Given the description of an element on the screen output the (x, y) to click on. 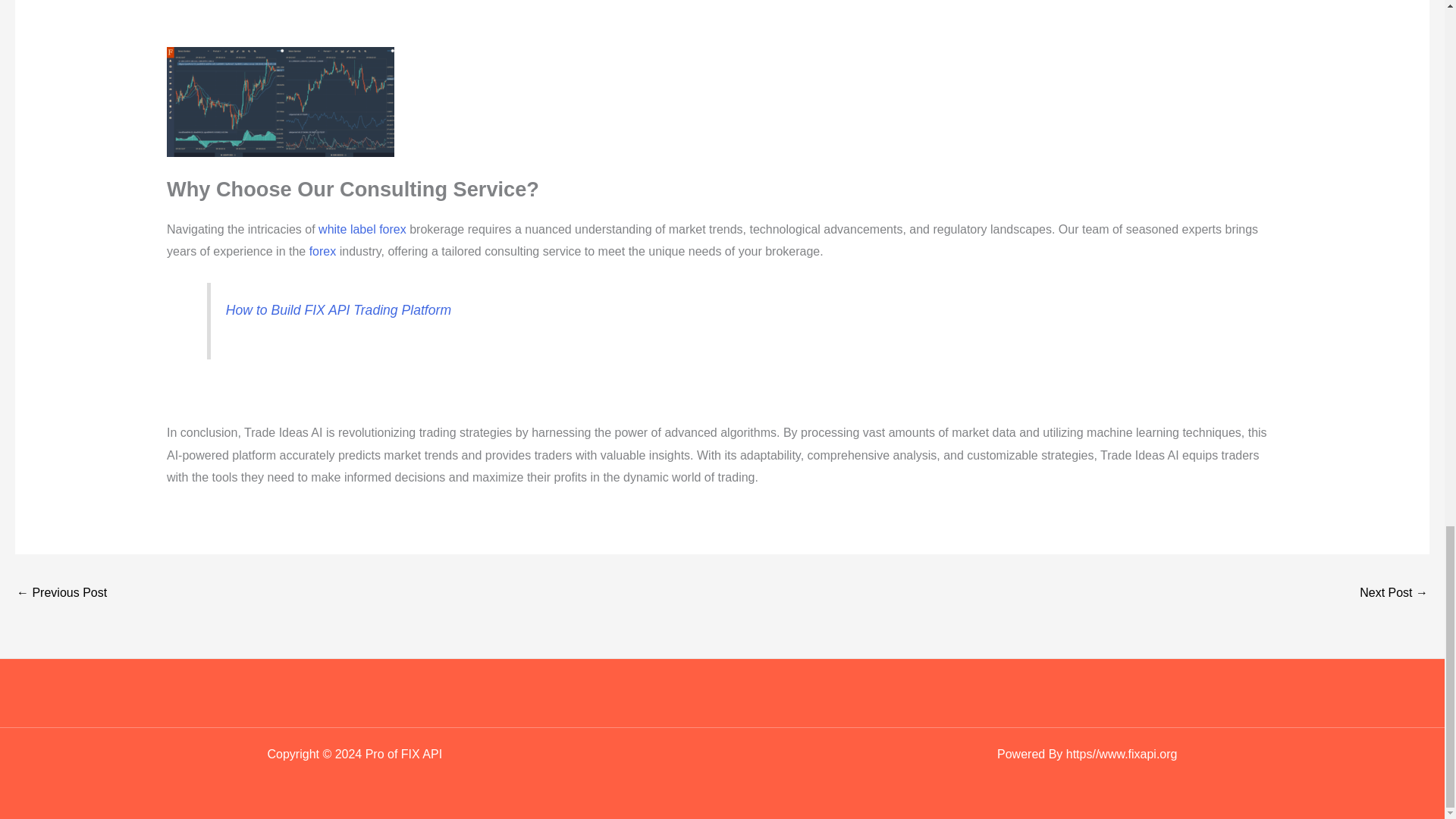
forex (392, 228)
forex (322, 250)
white label (346, 228)
